Given the description of an element on the screen output the (x, y) to click on. 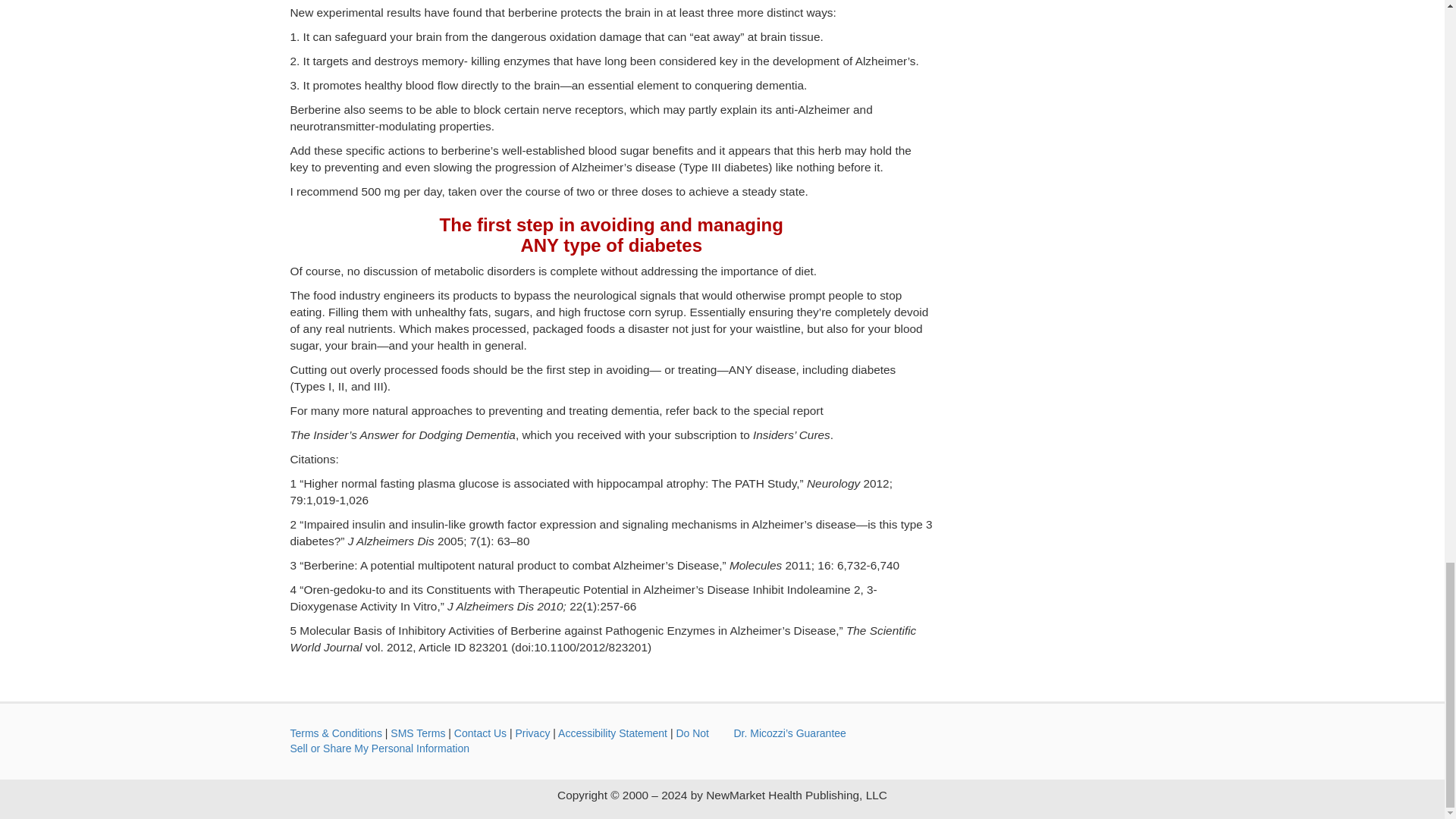
Accessibility Statement (611, 733)
Privacy (532, 733)
SMS Terms (417, 733)
Contact Us (480, 733)
Do Not Sell or Share My Personal Information (499, 740)
